Given the description of an element on the screen output the (x, y) to click on. 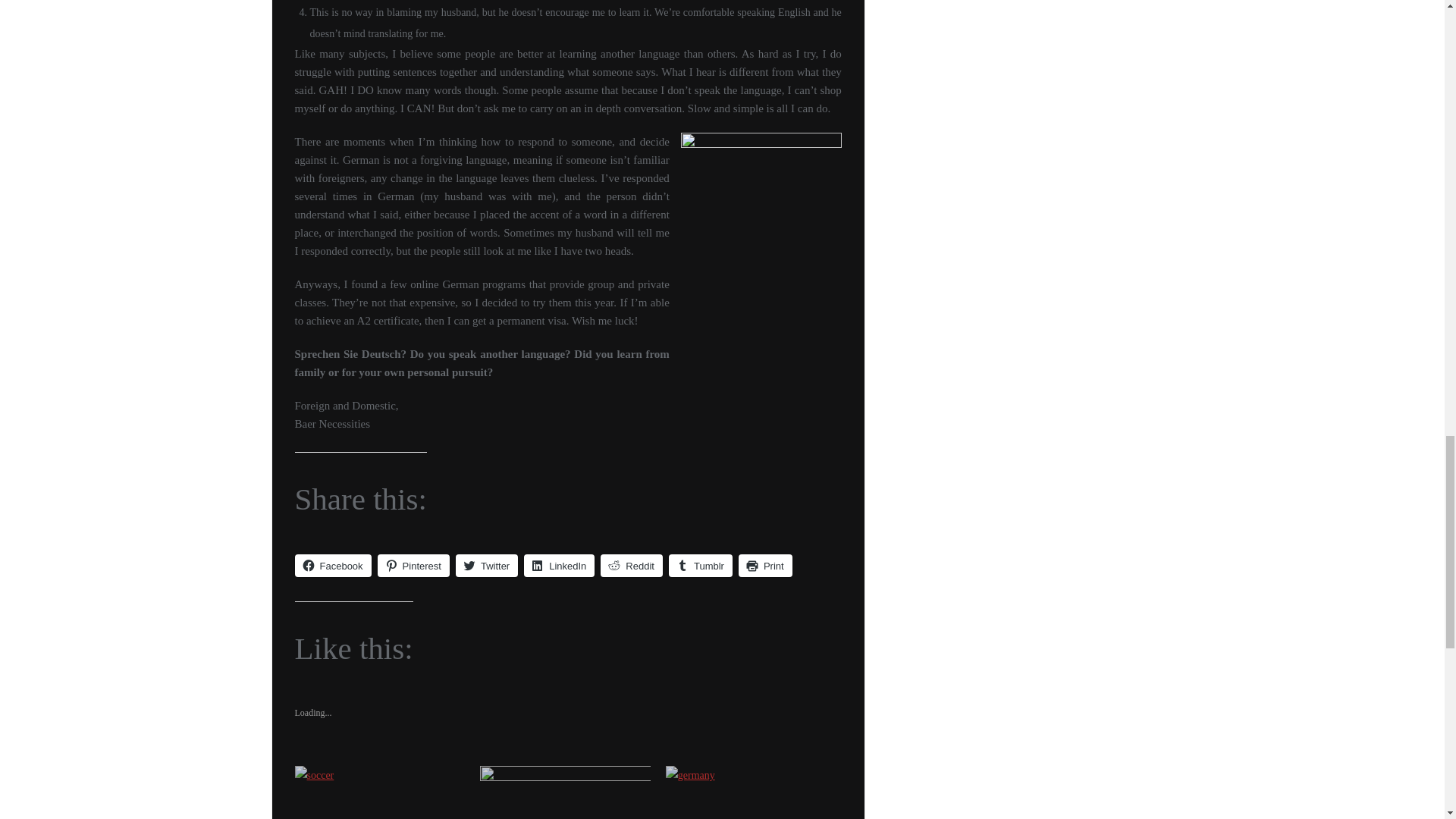
Click to share on Reddit (630, 565)
Click to share on Facebook (332, 565)
Click to share on LinkedIn (559, 565)
Click to share on Tumblr (700, 565)
Click to share on Pinterest (413, 565)
My Bad! Language Barrier (565, 792)
How to be German (750, 792)
Click to share on Twitter (486, 565)
Click to print (765, 565)
An American Immigrant (379, 792)
